Given the description of an element on the screen output the (x, y) to click on. 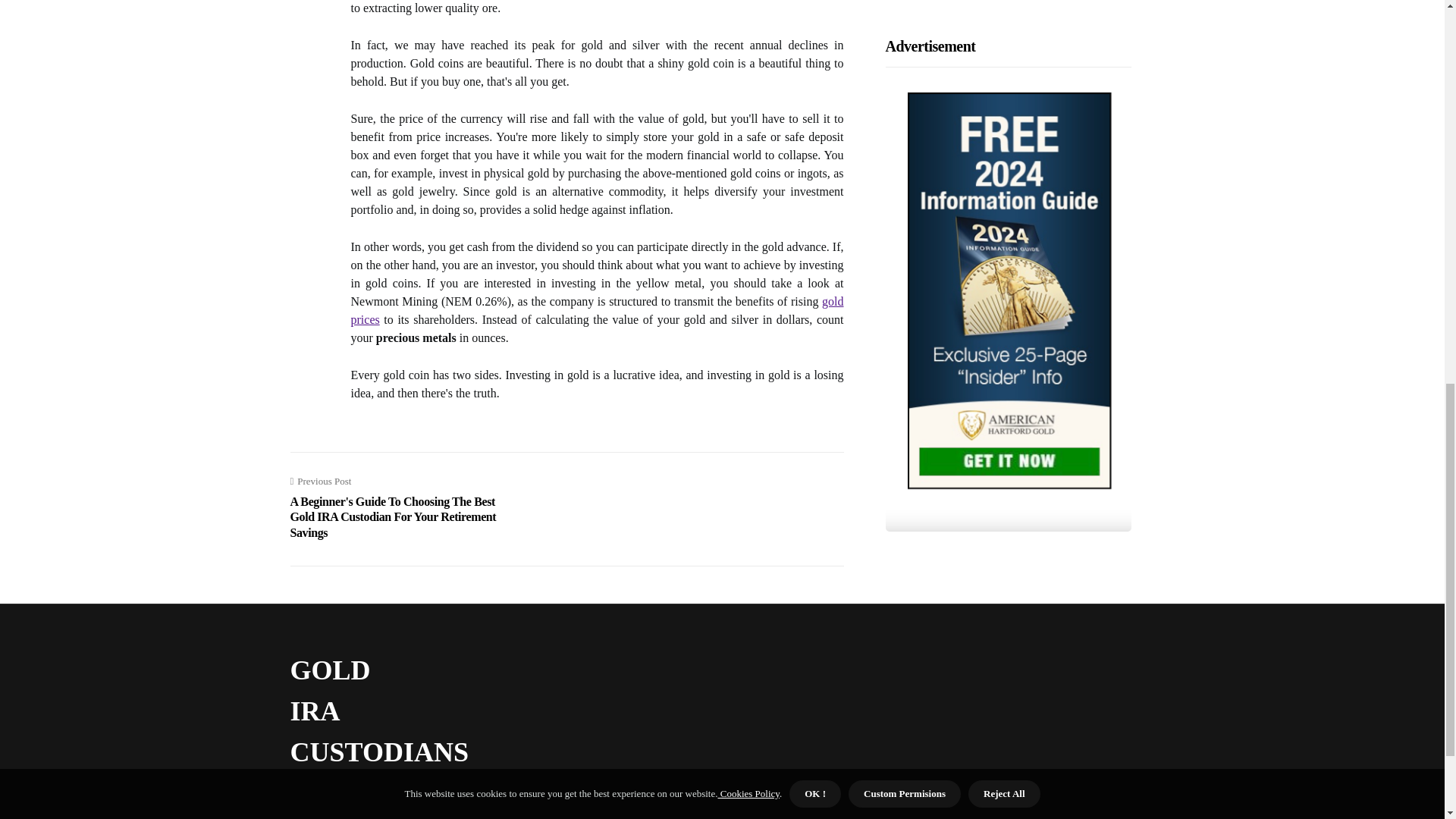
gold prices (596, 309)
